Given the description of an element on the screen output the (x, y) to click on. 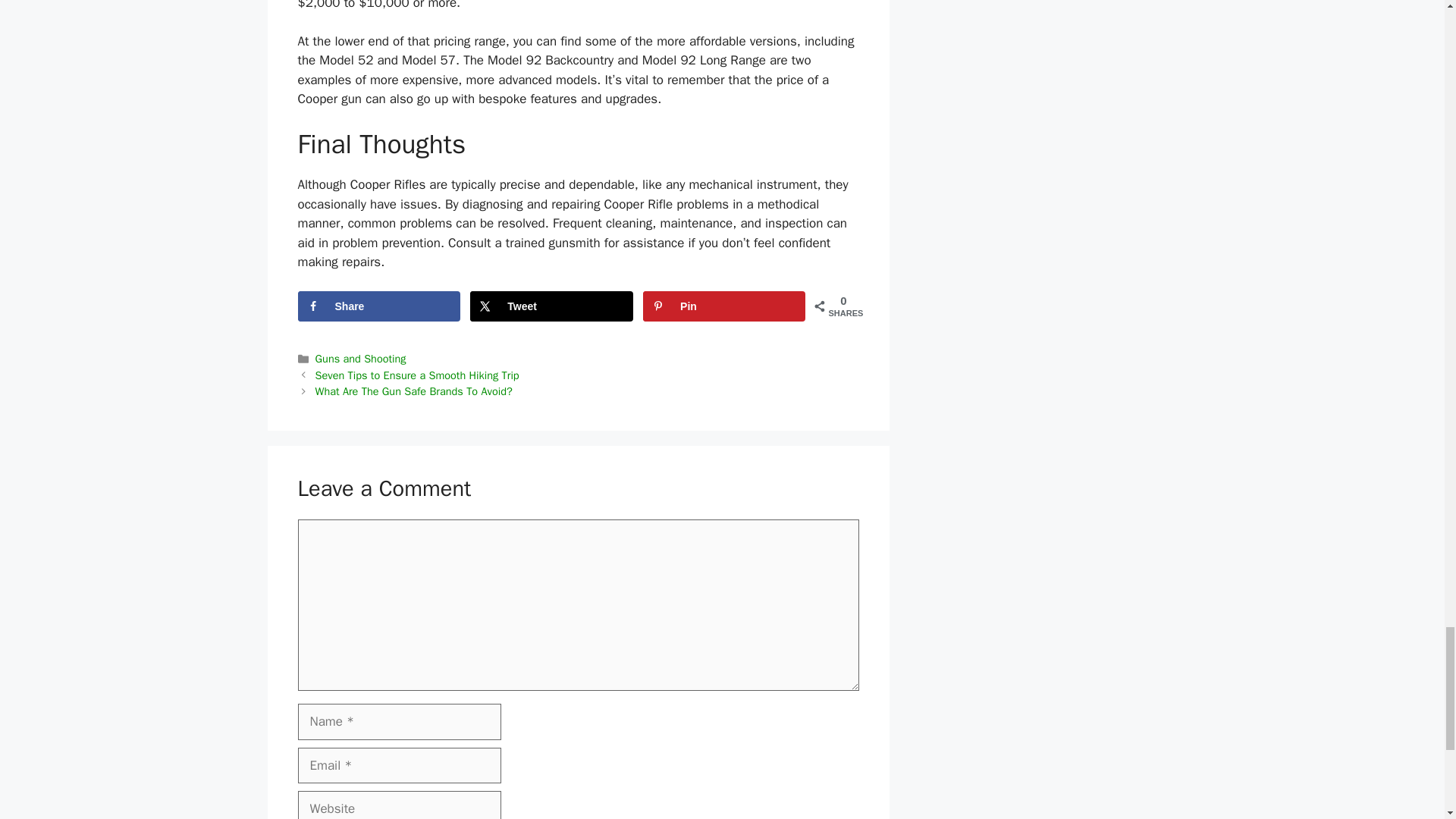
Share on X (550, 306)
Pin (724, 306)
Share (378, 306)
Share on Facebook (378, 306)
Guns and Shooting (360, 358)
Save to Pinterest (724, 306)
Tweet (550, 306)
Seven Tips to Ensure a Smooth Hiking Trip (417, 375)
What Are The Gun Safe Brands To Avoid? (413, 391)
